Given the description of an element on the screen output the (x, y) to click on. 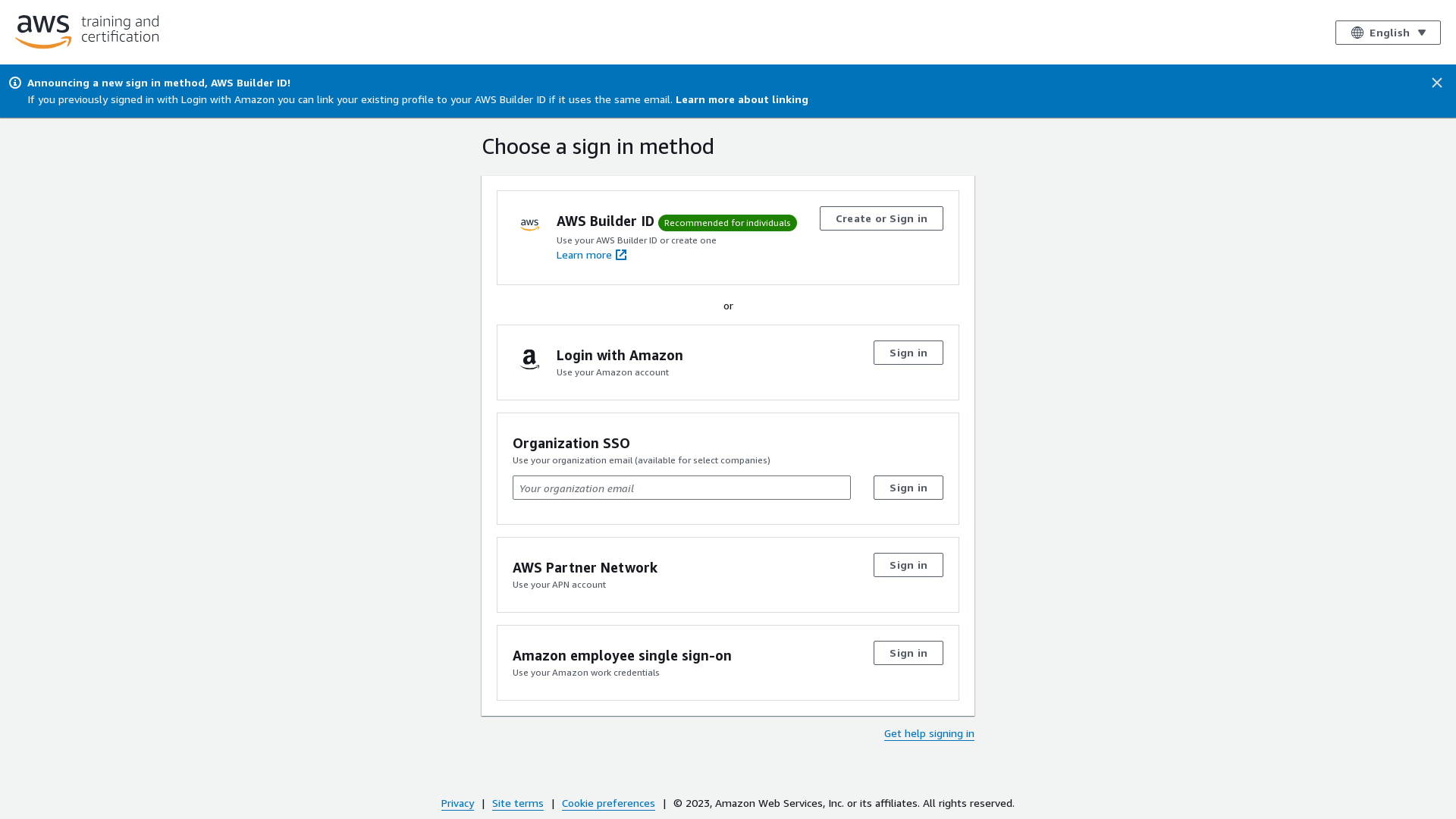
Get help signing in Element type: text (929, 732)
Create or Sign in Element type: text (881, 218)
English Element type: text (1387, 31)
Site terms Element type: text (517, 802)
Sign in Element type: text (908, 564)
Learn more about linking Element type: text (741, 98)
Sign in Element type: text (908, 352)
Privacy Element type: text (457, 802)
Cookie preferences Element type: text (608, 802)
Sign in Element type: text (908, 652)
Learn more  Element type: text (591, 253)
Sign in Element type: text (908, 487)
